Given the description of an element on the screen output the (x, y) to click on. 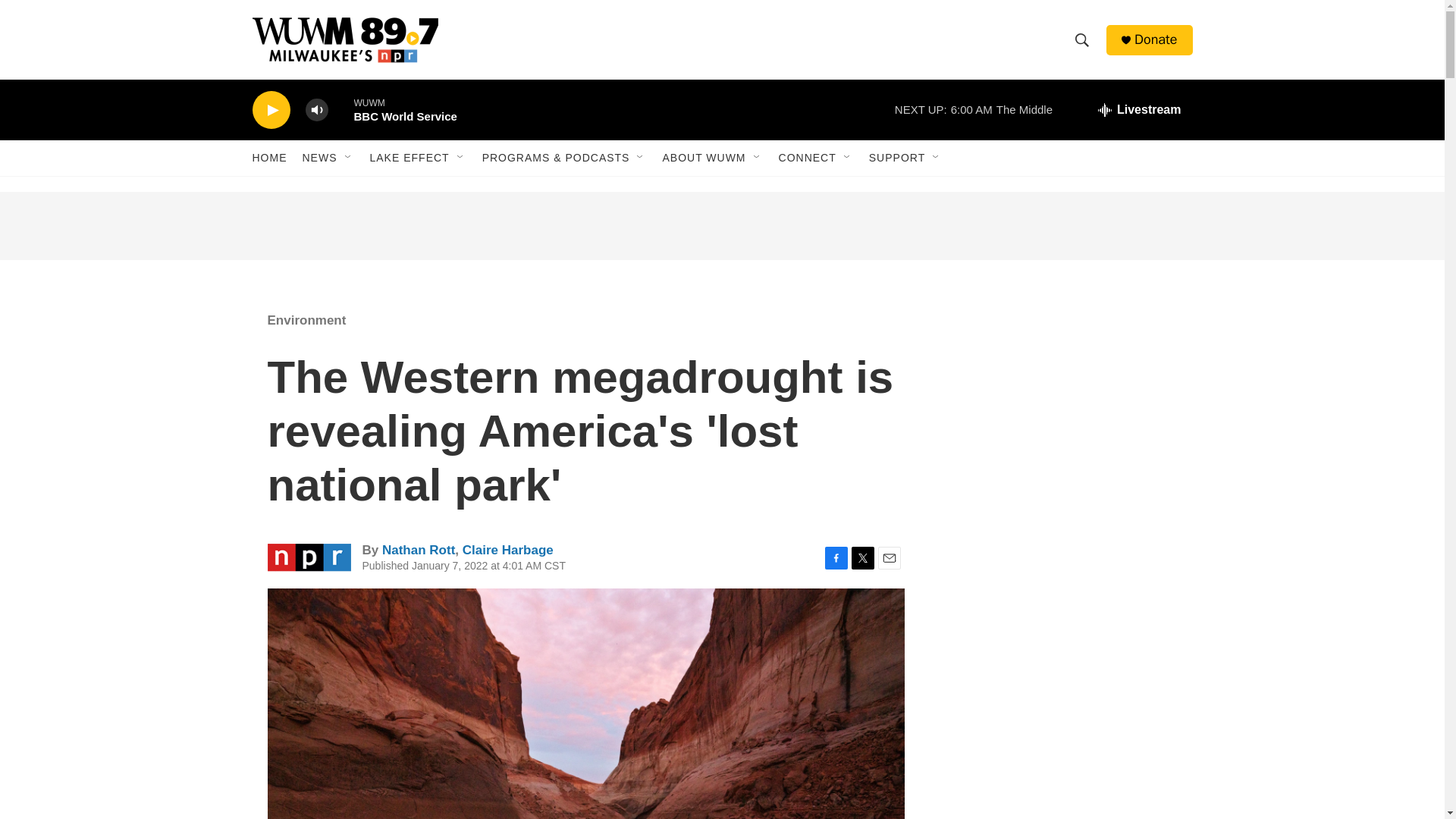
3rd party ad content (1062, 800)
3rd party ad content (1062, 400)
3rd party ad content (721, 225)
3rd party ad content (1062, 638)
